Given the description of an element on the screen output the (x, y) to click on. 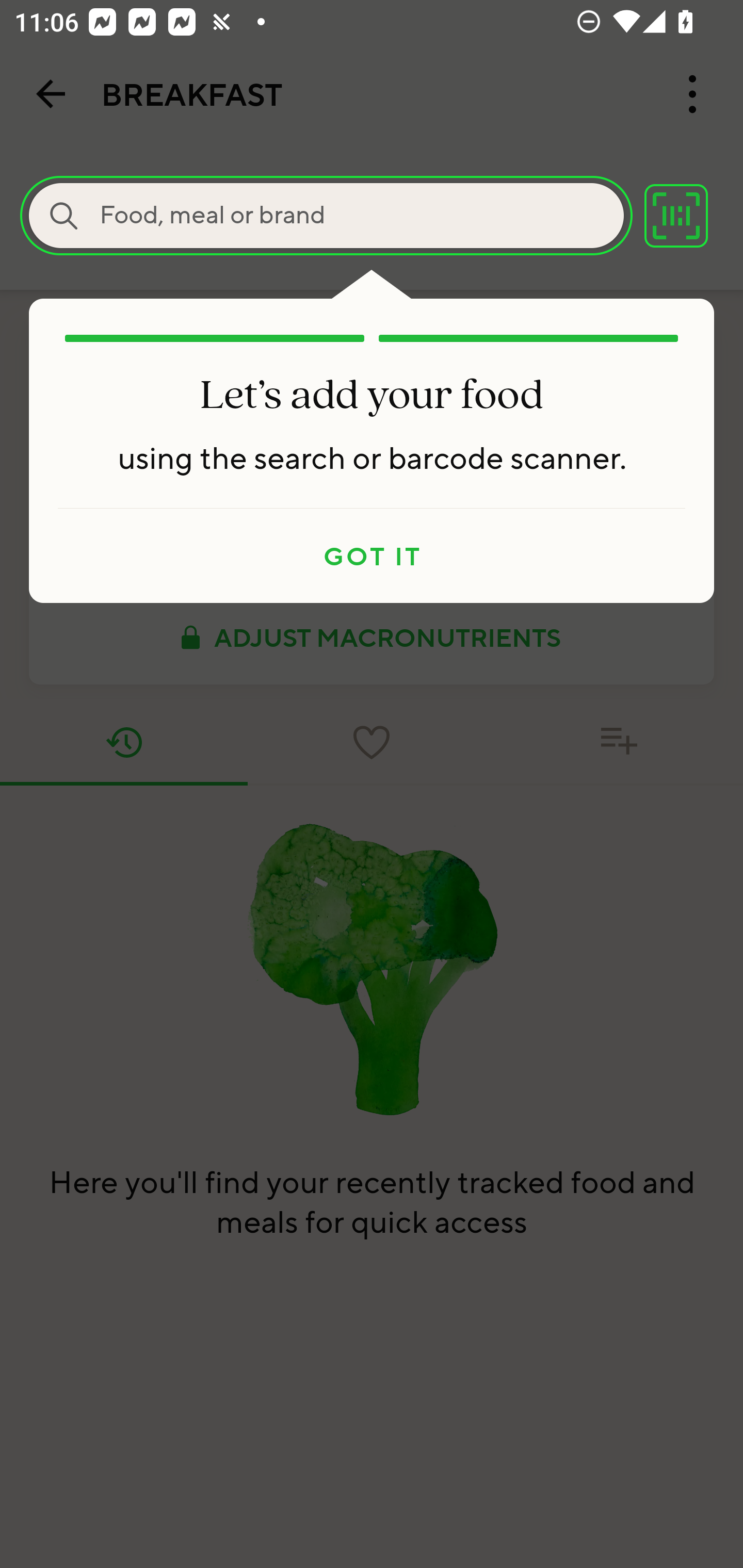
Food, meal or brand (63, 215)
GOT IT (371, 555)
